Given the description of an element on the screen output the (x, y) to click on. 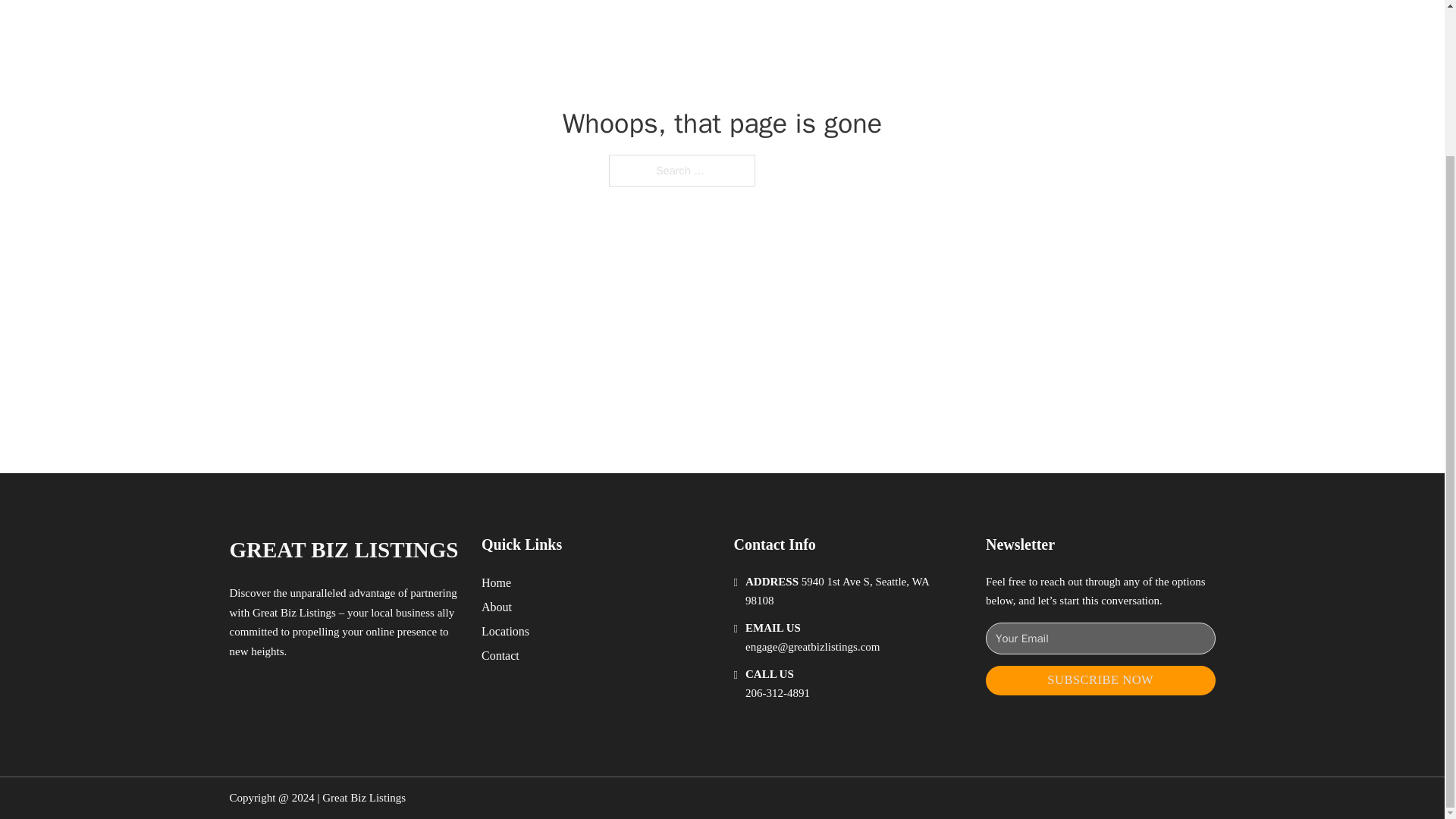
GREAT BIZ LISTINGS (343, 549)
Home (496, 582)
Contact (500, 655)
206-312-4891 (777, 693)
About (496, 607)
Locations (505, 630)
SUBSCRIBE NOW (1100, 680)
